Given the description of an element on the screen output the (x, y) to click on. 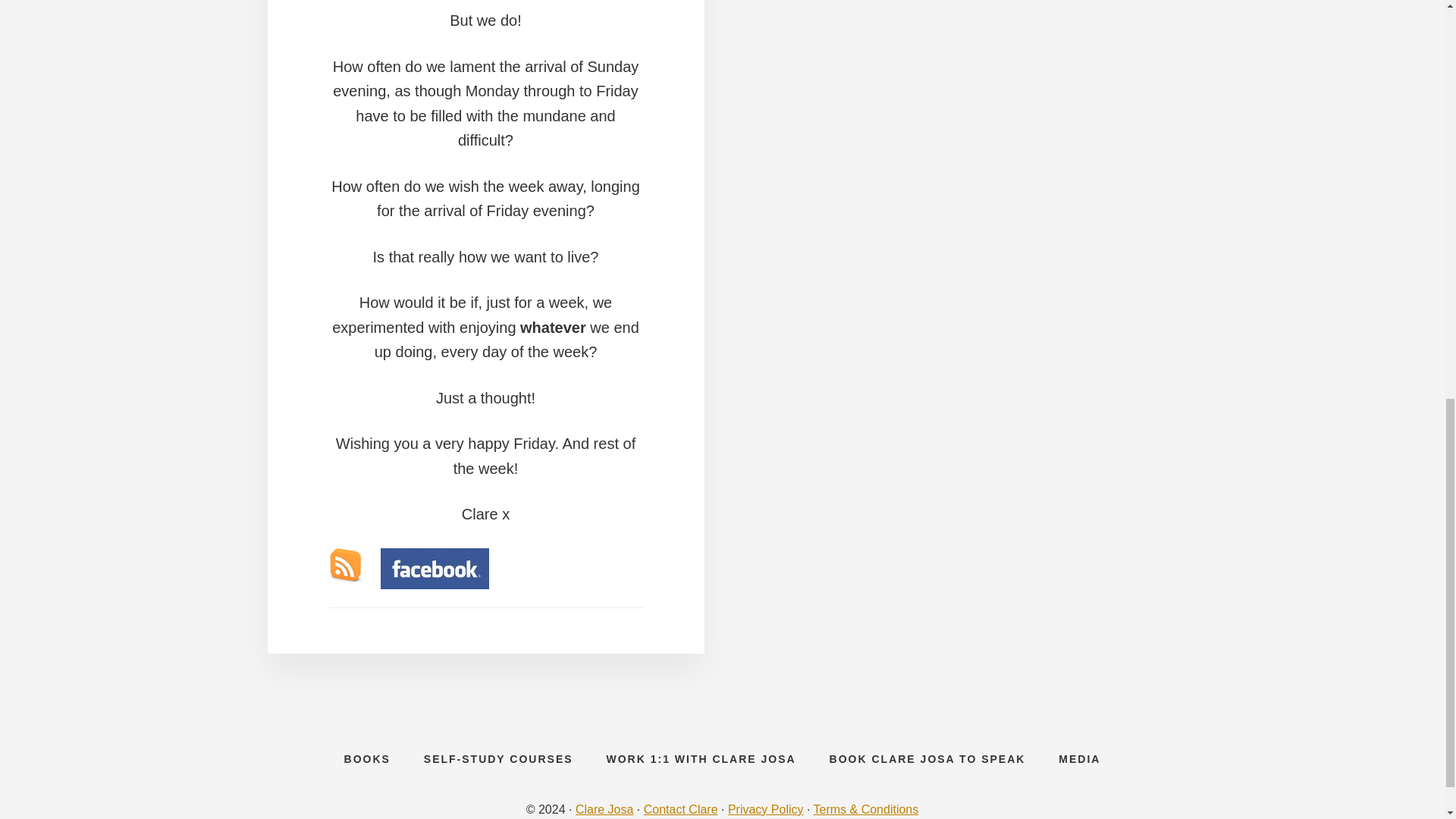
Privacy Policy (765, 809)
Privacy Policy (765, 809)
Clare Josa (604, 809)
WORK 1:1 WITH CLARE JOSA (700, 758)
SELF-STUDY COURSES (498, 758)
Daily Sunshine RSS (344, 564)
BOOKS (367, 758)
Contact Clare (680, 809)
MEDIA (1079, 758)
Daily Sunshine Facebook Group (434, 567)
BOOK CLARE JOSA TO SPEAK (927, 758)
Contact Clare Josa (680, 809)
